Given the description of an element on the screen output the (x, y) to click on. 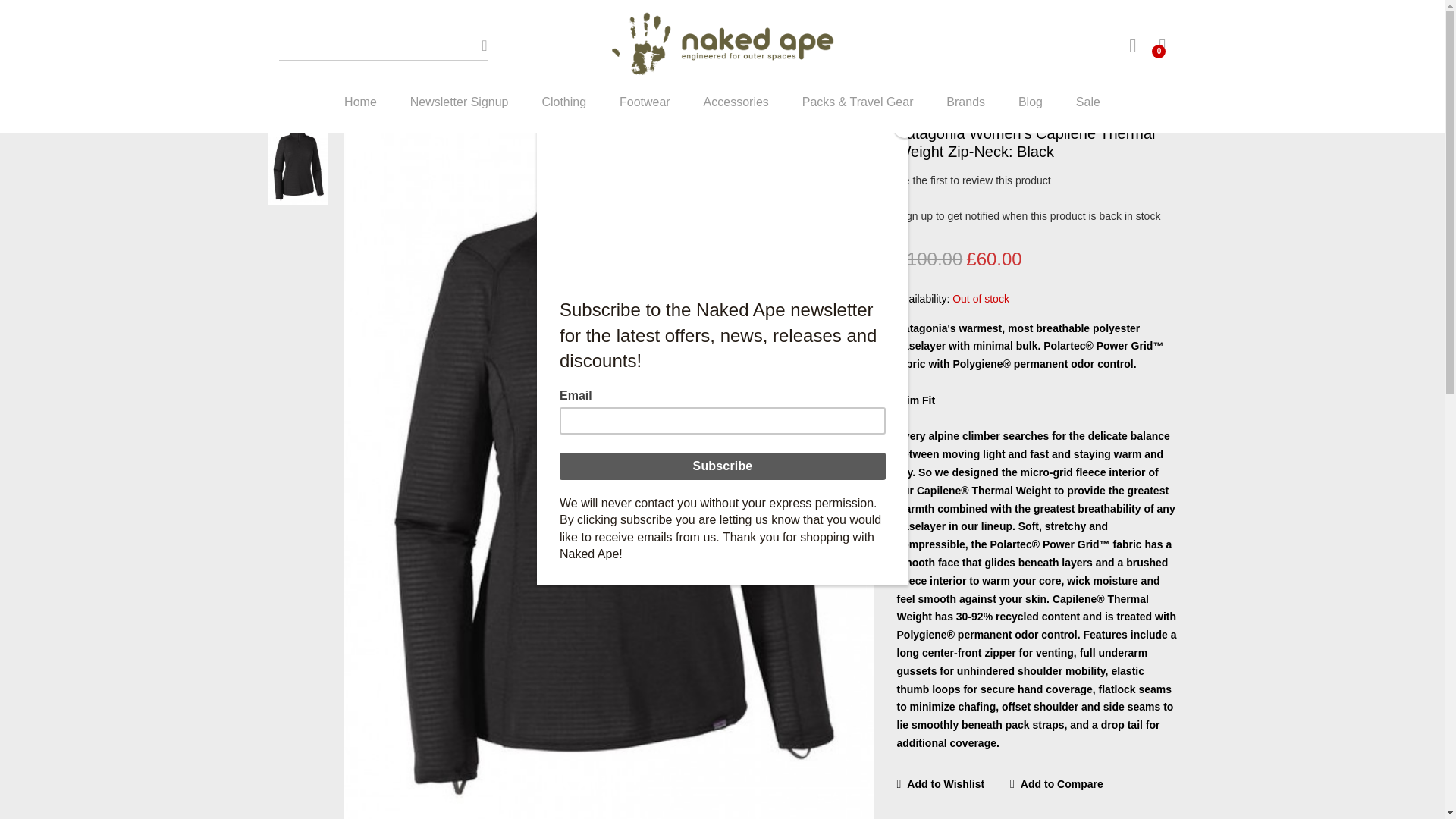
Go to Home Page (293, 64)
Naked Ape for Patagonia, Vibram Five Fingers (720, 45)
Sign up to get notified when this product is back in stock (1028, 215)
